Given the description of an element on the screen output the (x, y) to click on. 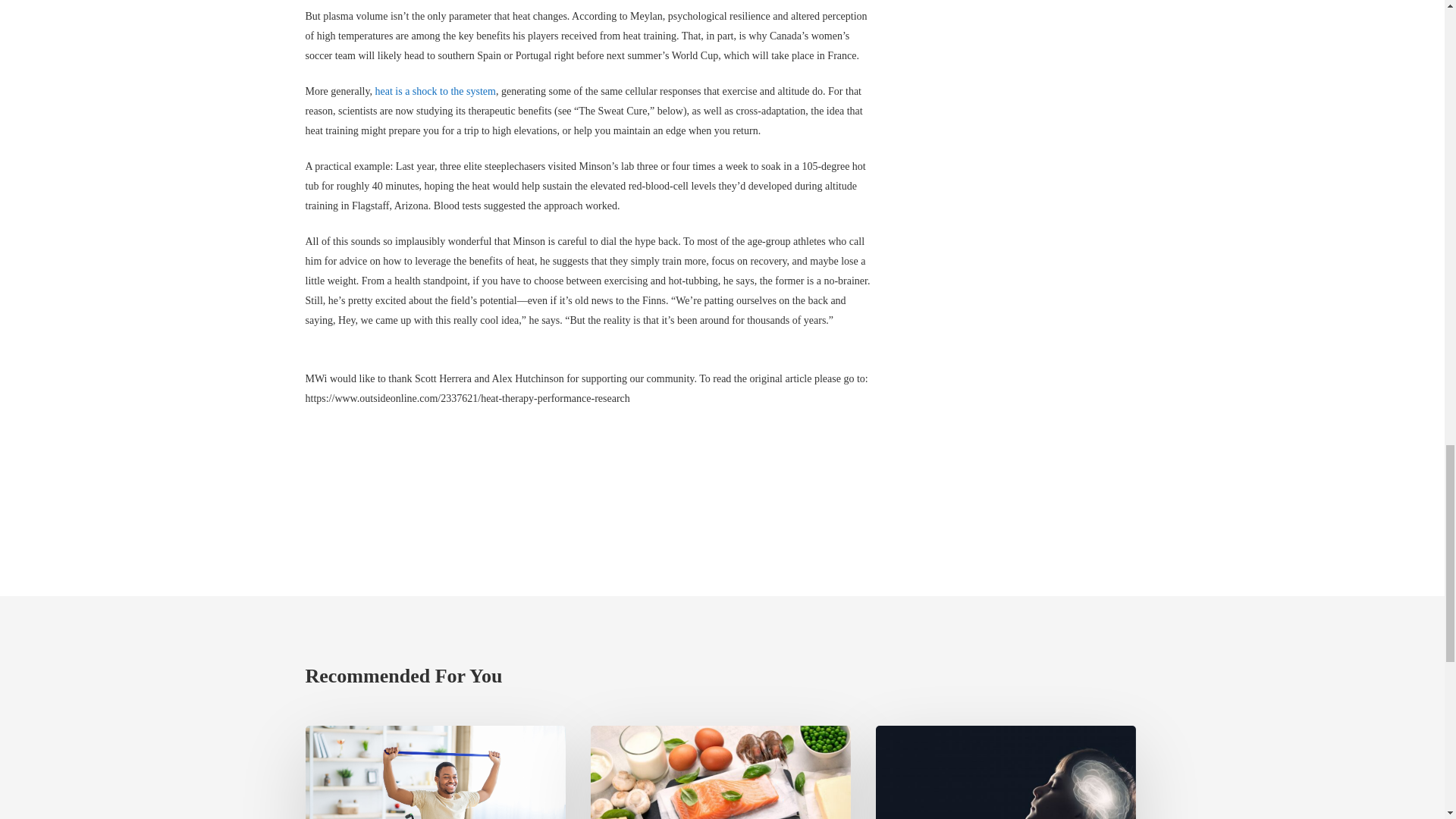
heat is a shock to the system (434, 91)
